Given the description of an element on the screen output the (x, y) to click on. 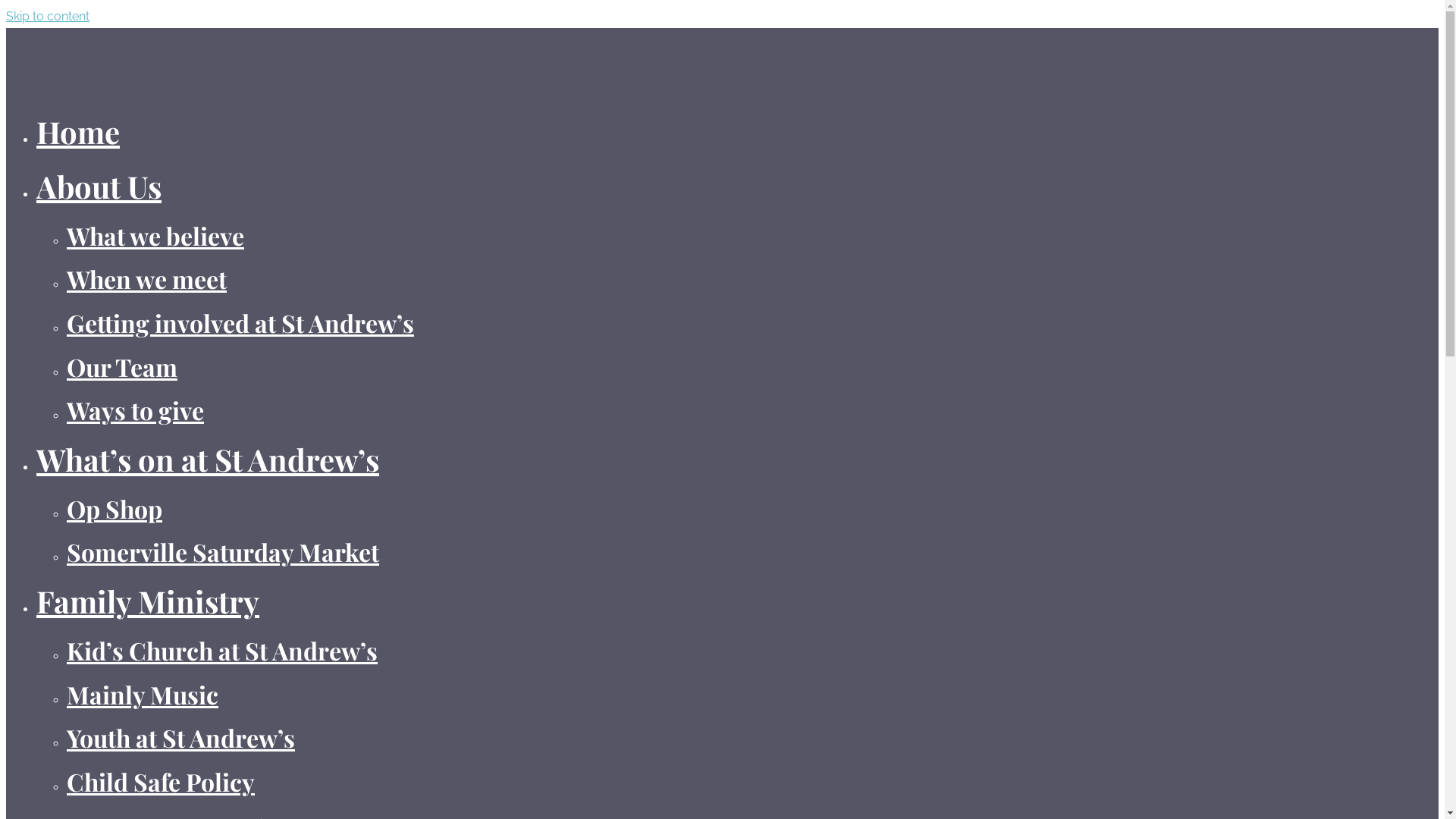
Somerville Saturday Market Element type: text (222, 551)
Family Ministry Element type: text (147, 600)
Op Shop Element type: text (114, 508)
Home Element type: text (77, 131)
When we meet Element type: text (146, 278)
What we believe Element type: text (155, 235)
Skip to content Element type: text (47, 16)
Our Team Element type: text (121, 366)
Child Safe Policy Element type: text (160, 781)
Mainly Music Element type: text (142, 693)
Ways to give Element type: text (134, 409)
About Us Element type: text (98, 186)
